Given the description of an element on the screen output the (x, y) to click on. 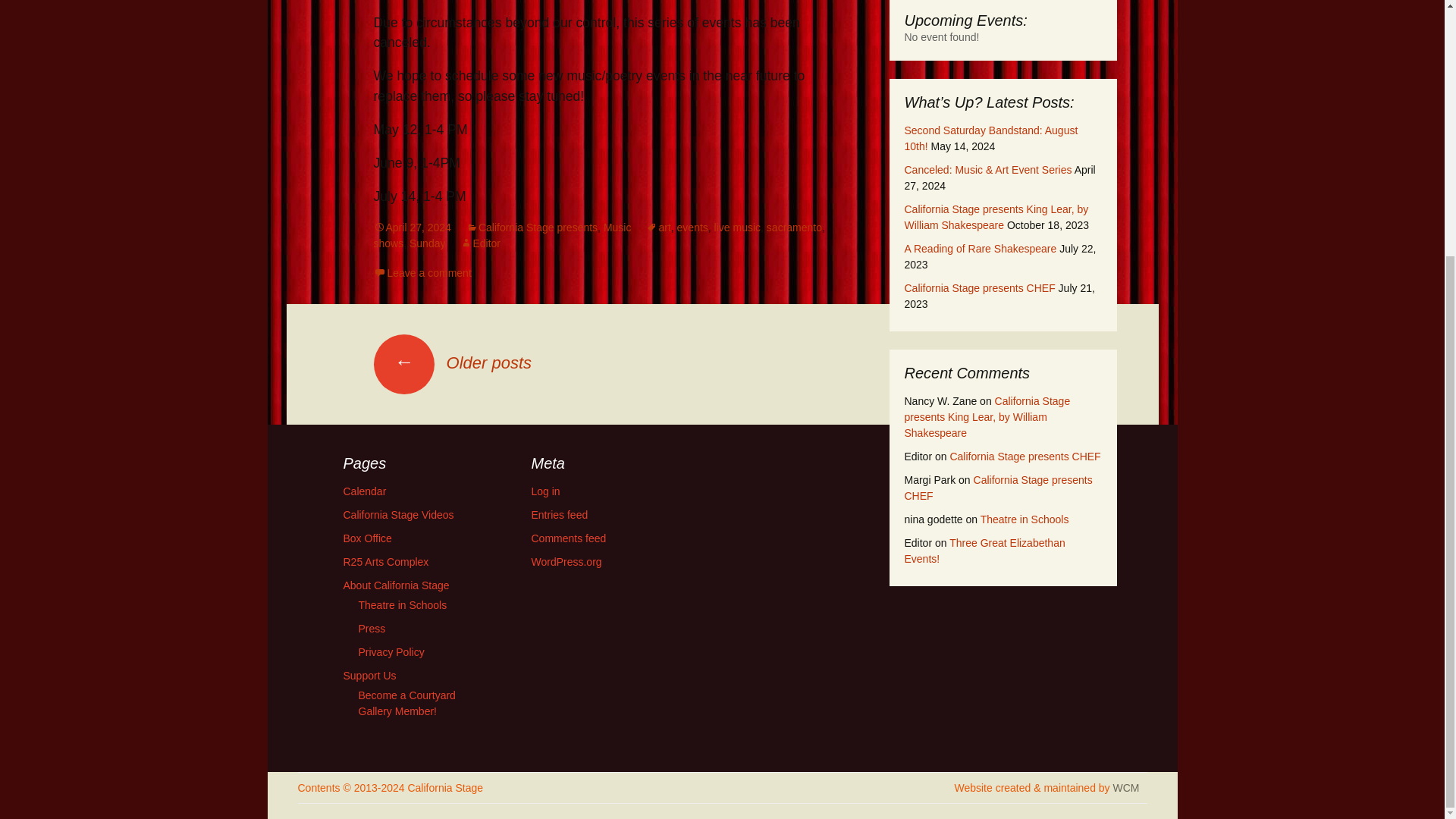
April 27, 2024 (410, 227)
art (657, 227)
events (692, 227)
View all posts by Editor (480, 243)
sacramento (794, 227)
live music (737, 227)
California Stage presents (530, 227)
Music (617, 227)
Sunday (427, 243)
shows (387, 243)
